Given the description of an element on the screen output the (x, y) to click on. 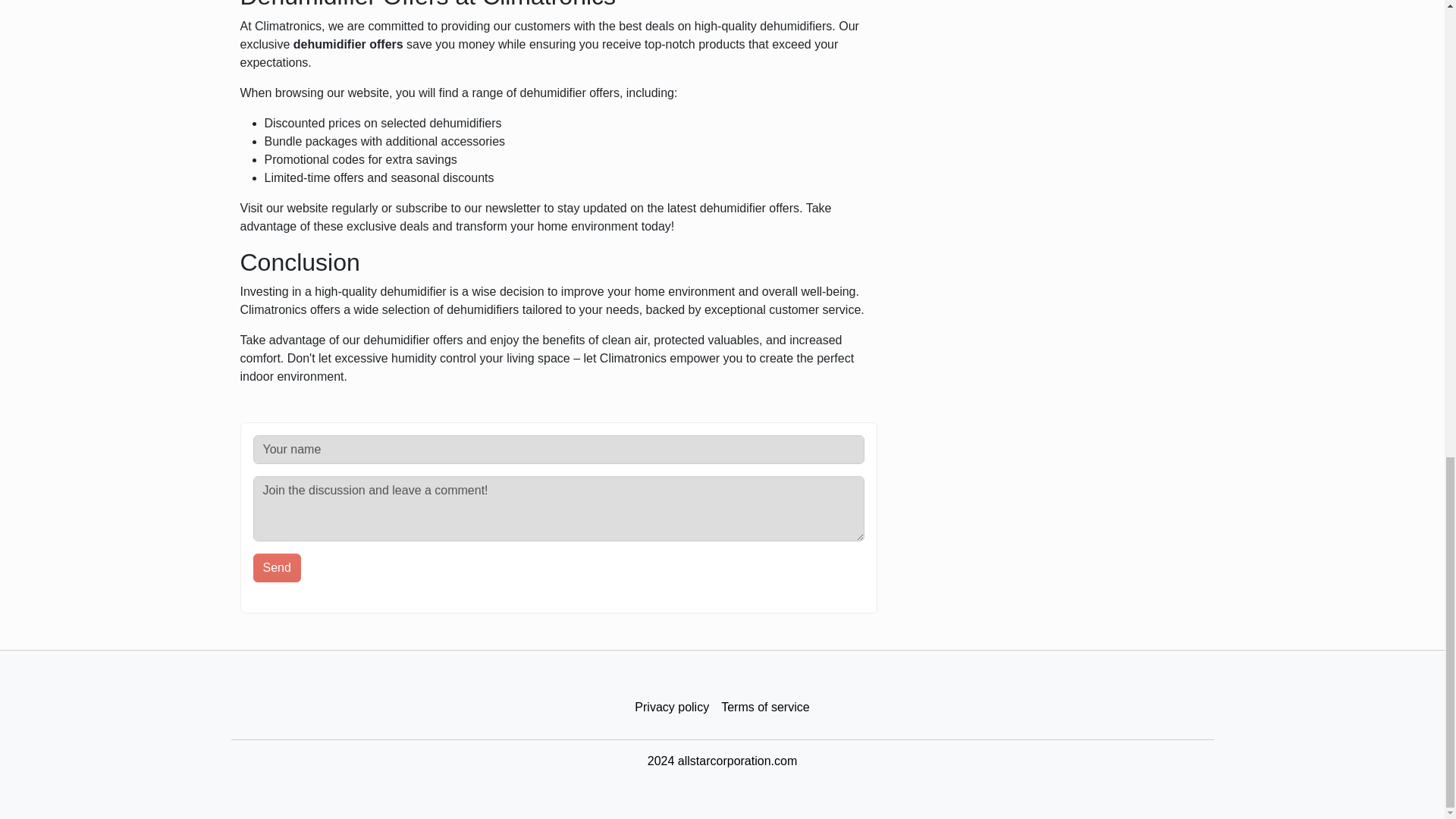
Send (277, 567)
Privacy policy (671, 707)
Terms of service (764, 707)
Send (277, 567)
